Given the description of an element on the screen output the (x, y) to click on. 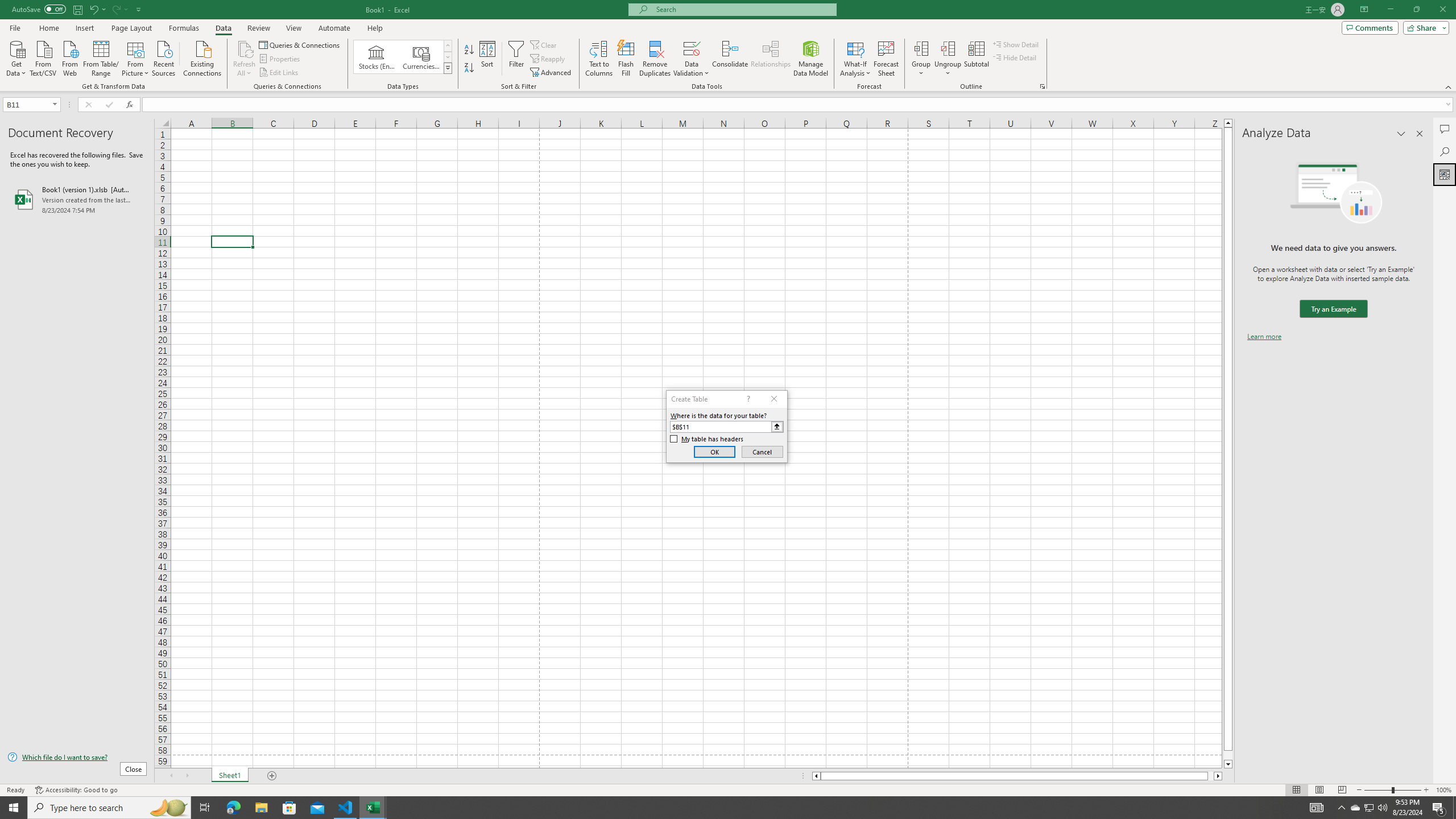
Class: MsoCommandBar (728, 45)
Formulas (184, 28)
Hide Detail (1014, 56)
Filter (515, 58)
Data Validation... (691, 48)
Quick Access Toolbar (77, 9)
Sheet1 (229, 775)
Scroll Right (187, 775)
Class: NetUIImage (447, 68)
Show Detail (1016, 44)
Properties (280, 58)
